Given the description of an element on the screen output the (x, y) to click on. 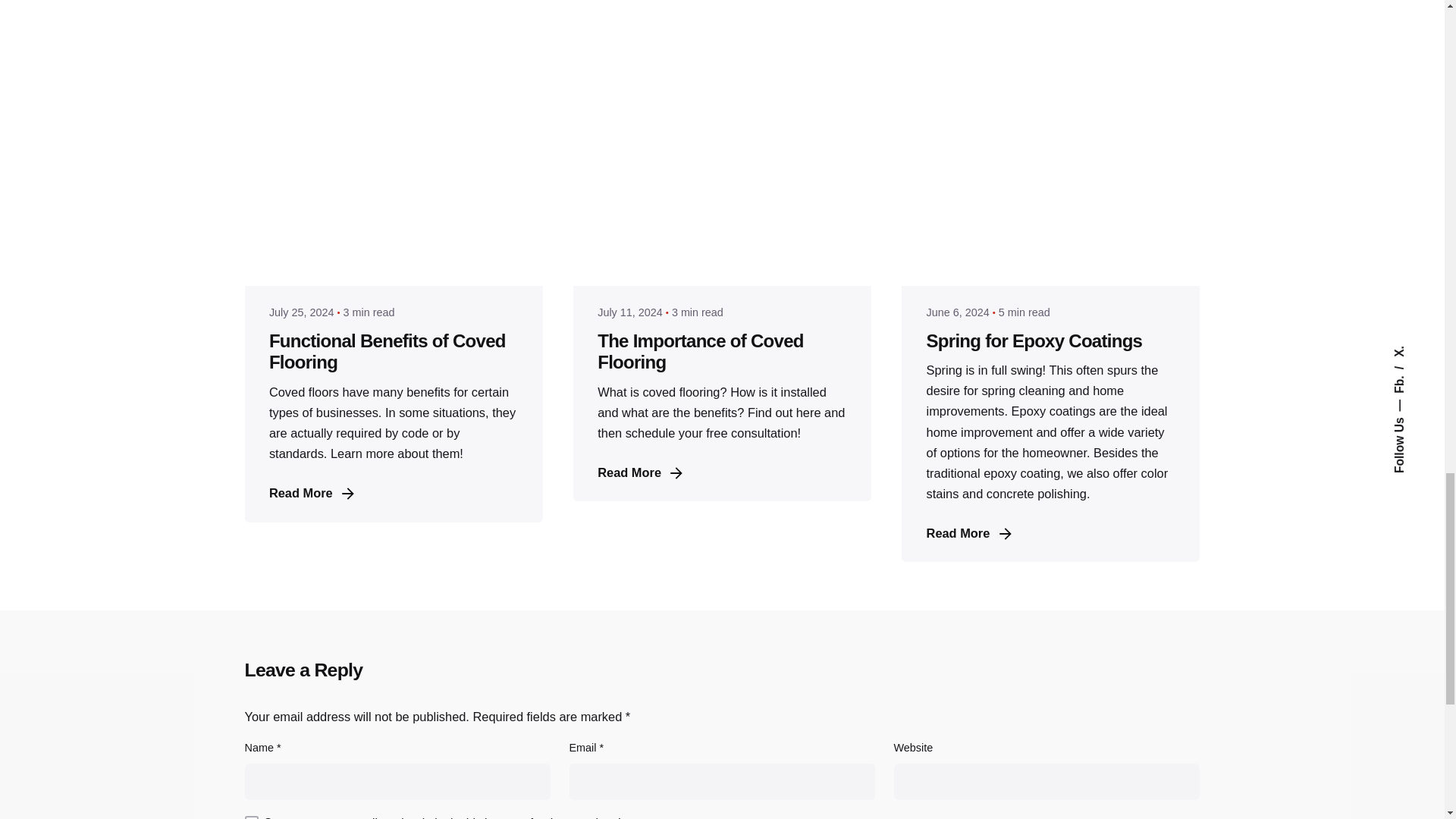
yes (250, 817)
